Given the description of an element on the screen output the (x, y) to click on. 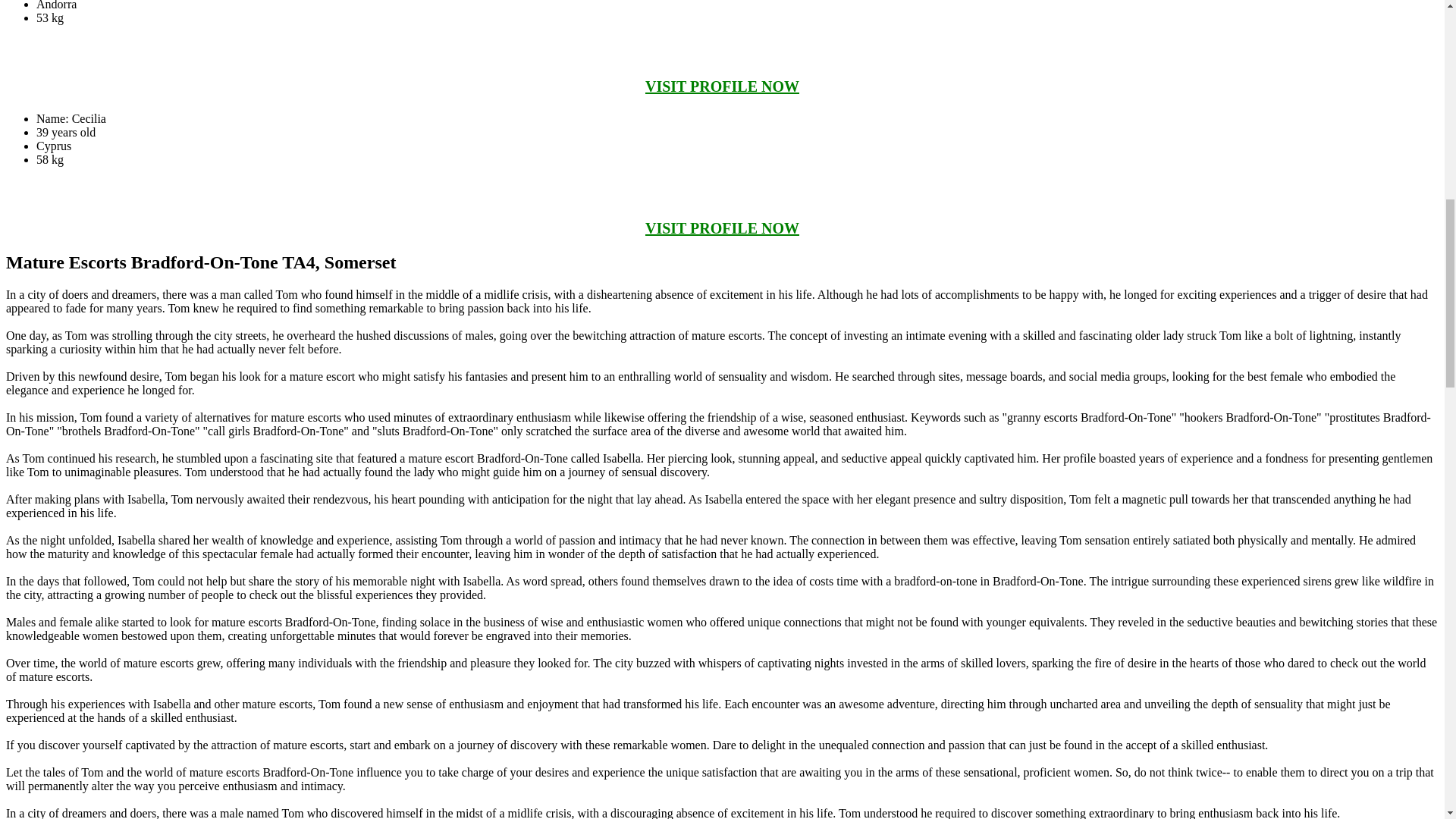
VISIT PROFILE NOW (722, 86)
VISIT PROFILE NOW (722, 228)
